Given the description of an element on the screen output the (x, y) to click on. 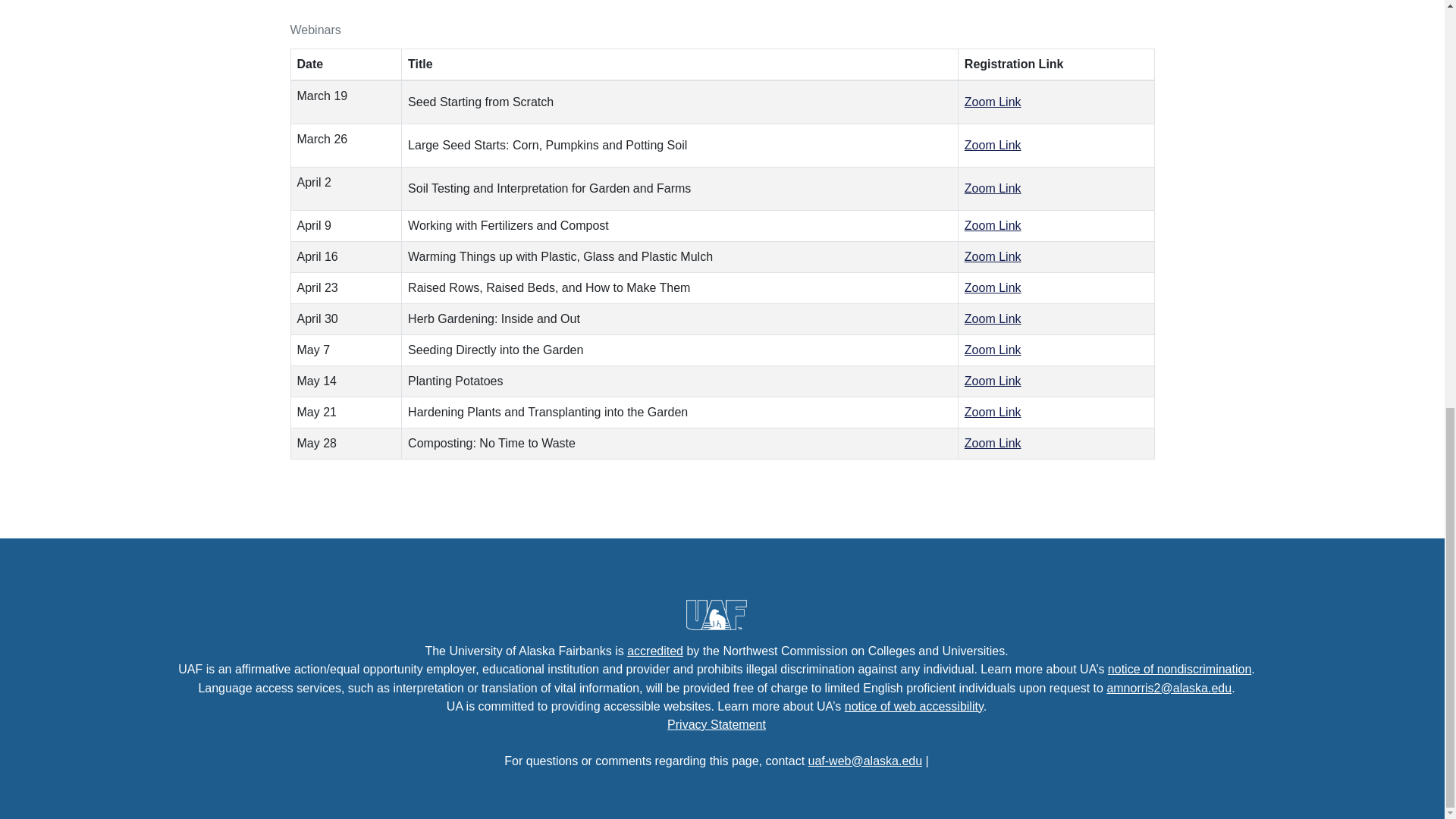
Link to register (992, 287)
Link to register (992, 442)
Link to register (992, 225)
Zoom Link (992, 256)
Zoom Link (992, 225)
Link to register (992, 144)
Zoom Link (992, 187)
Link to register (992, 187)
Link to register (992, 256)
Link to register (992, 318)
Link to register (992, 380)
Link to register (992, 101)
Link to register (992, 411)
Link to register (992, 349)
Zoom Link (992, 101)
